Given the description of an element on the screen output the (x, y) to click on. 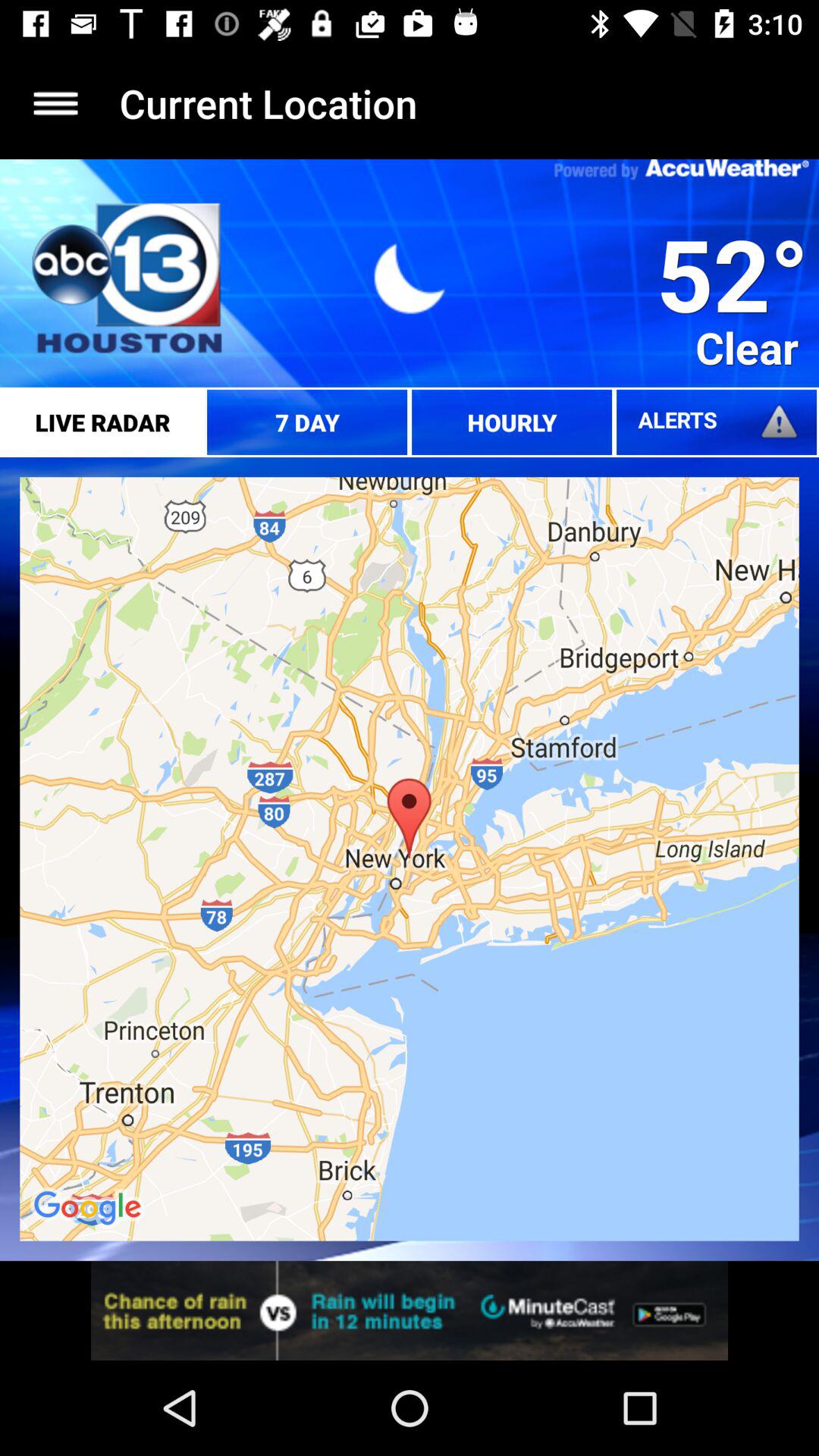
look at options (55, 103)
